Given the description of an element on the screen output the (x, y) to click on. 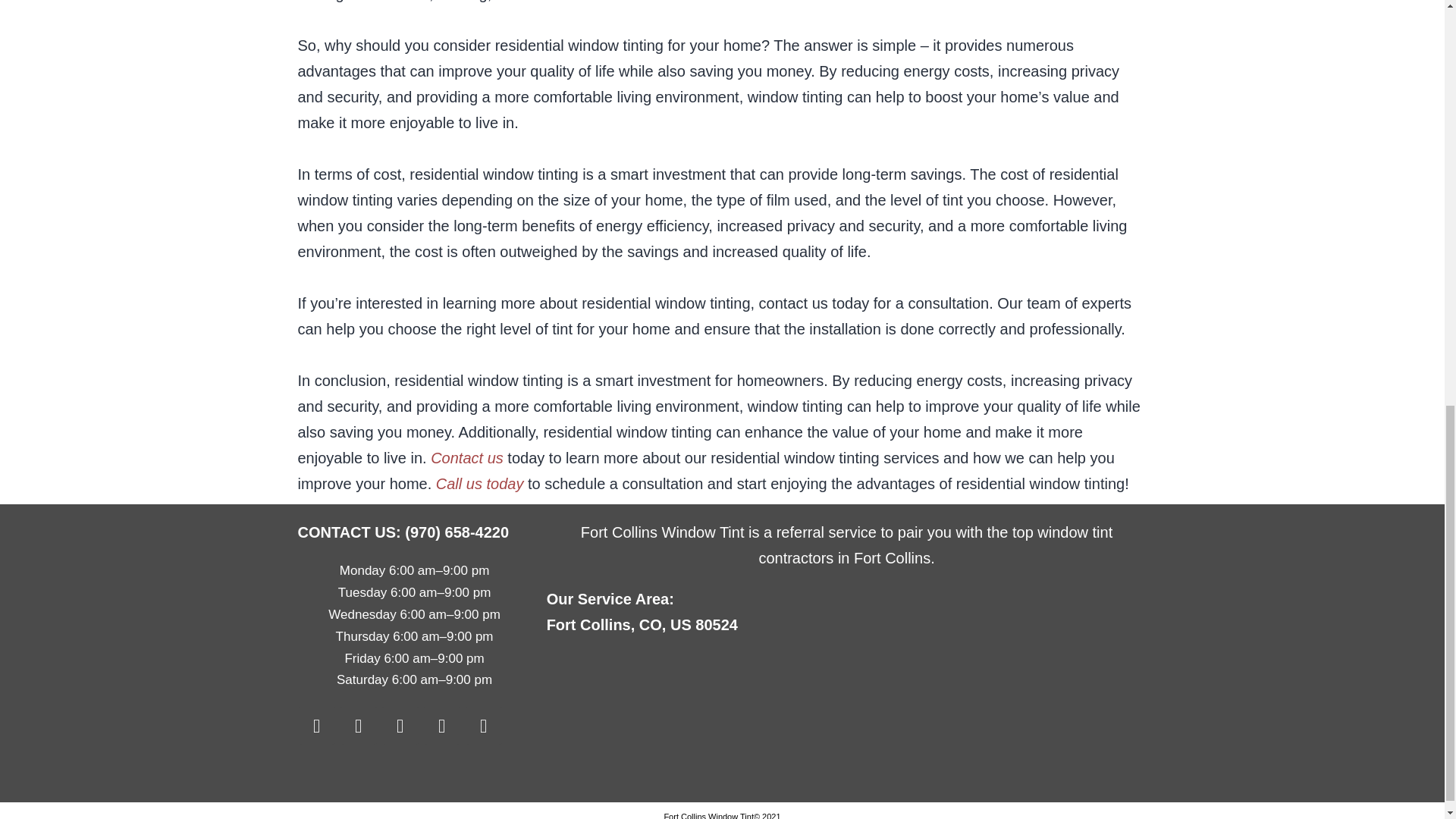
Fort Collins, CO, US (847, 719)
Contact us (466, 457)
Call us today (479, 483)
